Given the description of an element on the screen output the (x, y) to click on. 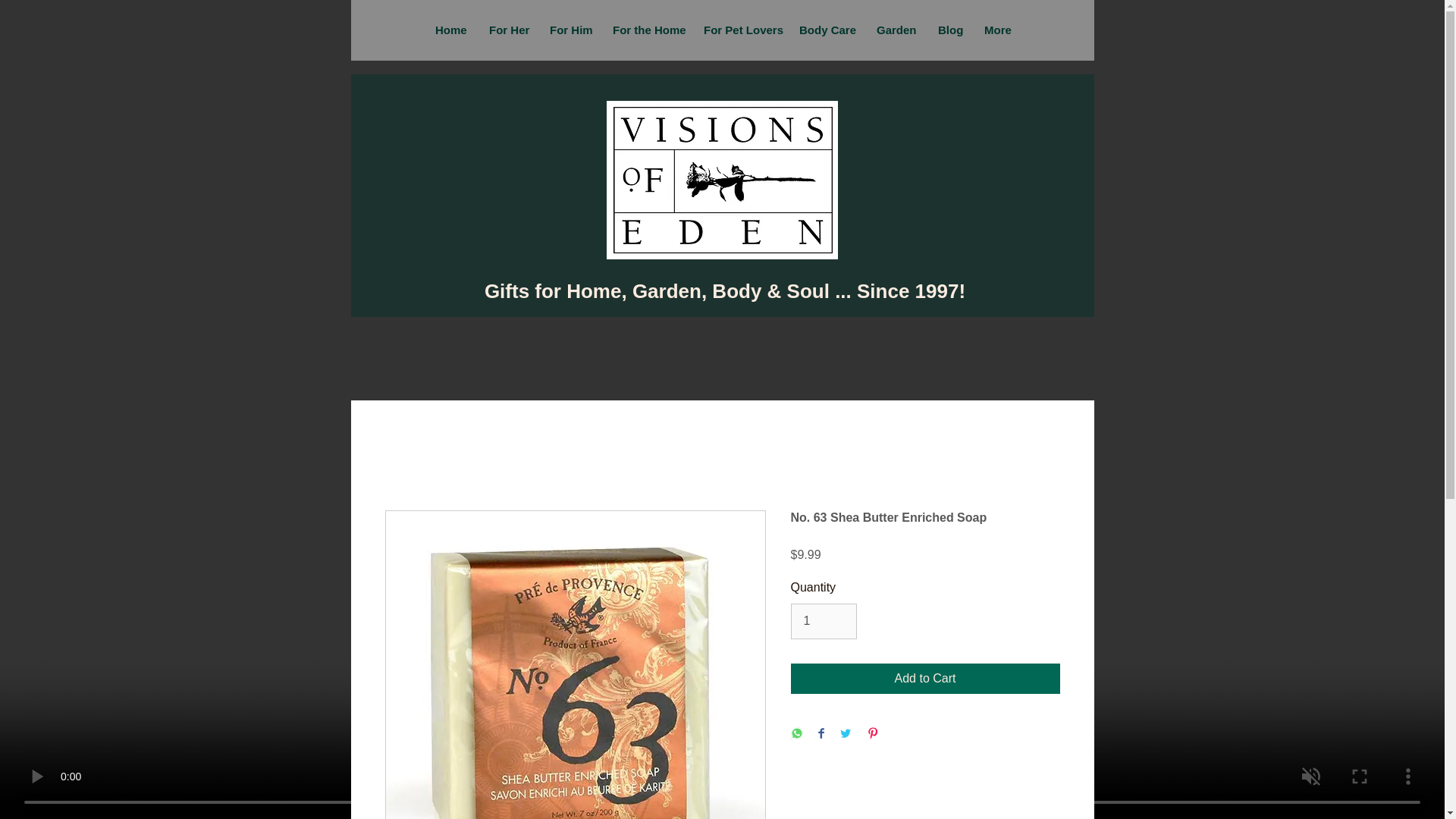
Add to Cart (924, 678)
For Pet Lovers (739, 30)
Garden (895, 30)
1 (823, 620)
